Given the description of an element on the screen output the (x, y) to click on. 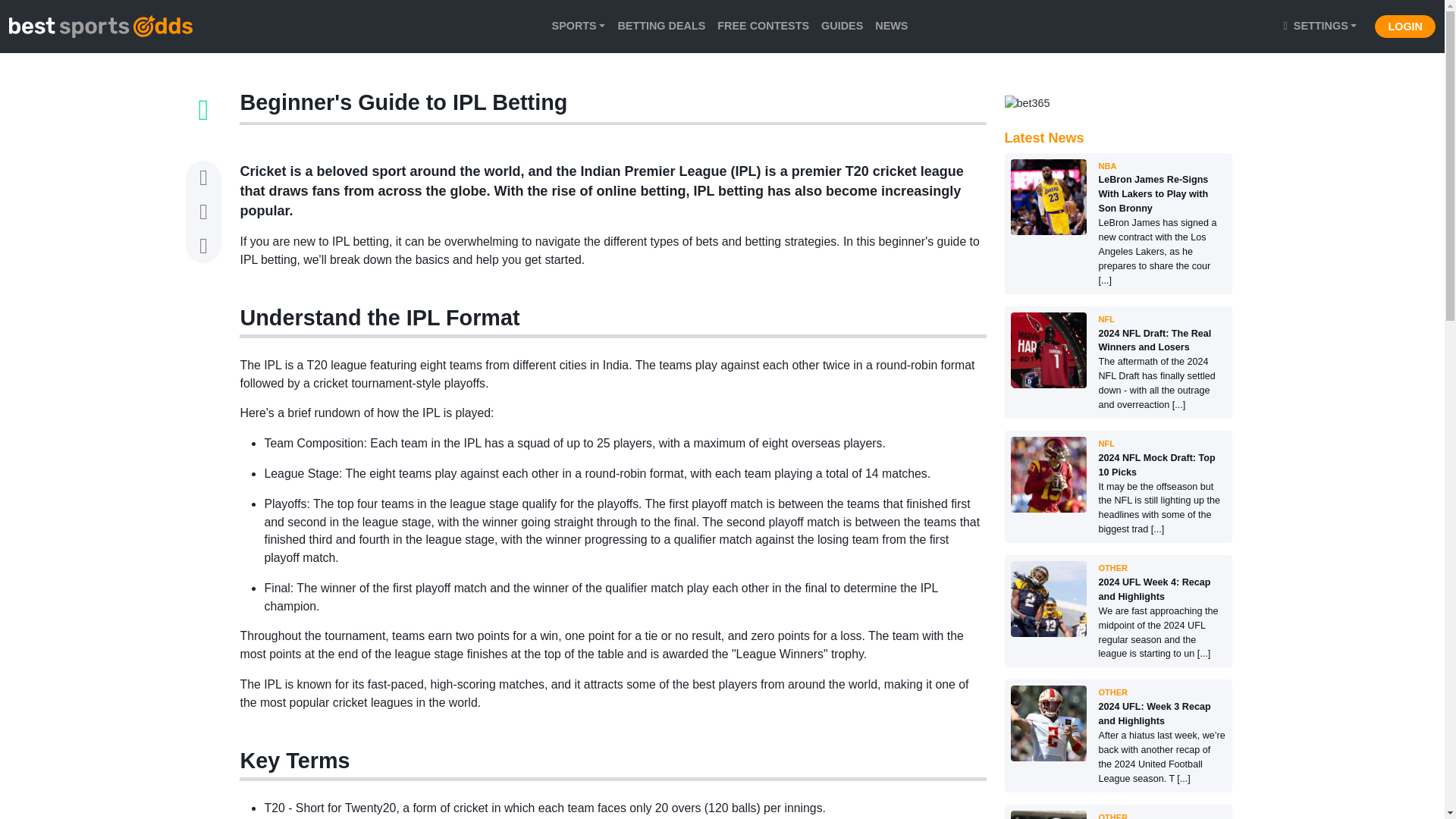
Betting Deals (661, 26)
SPORTS (578, 26)
BETTING DEALS (661, 26)
